Given the description of an element on the screen output the (x, y) to click on. 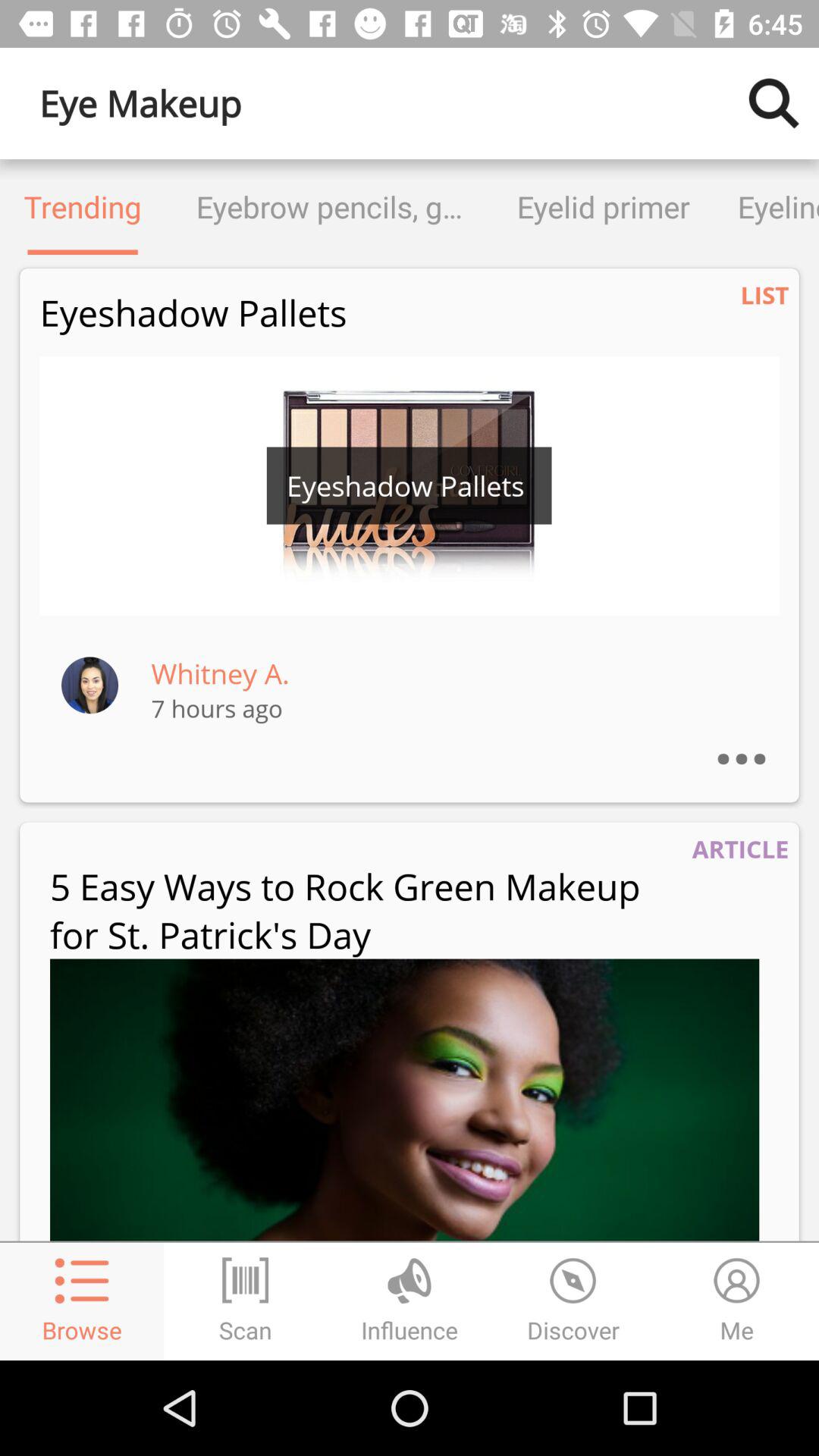
tap the ... (756, 738)
